Given the description of an element on the screen output the (x, y) to click on. 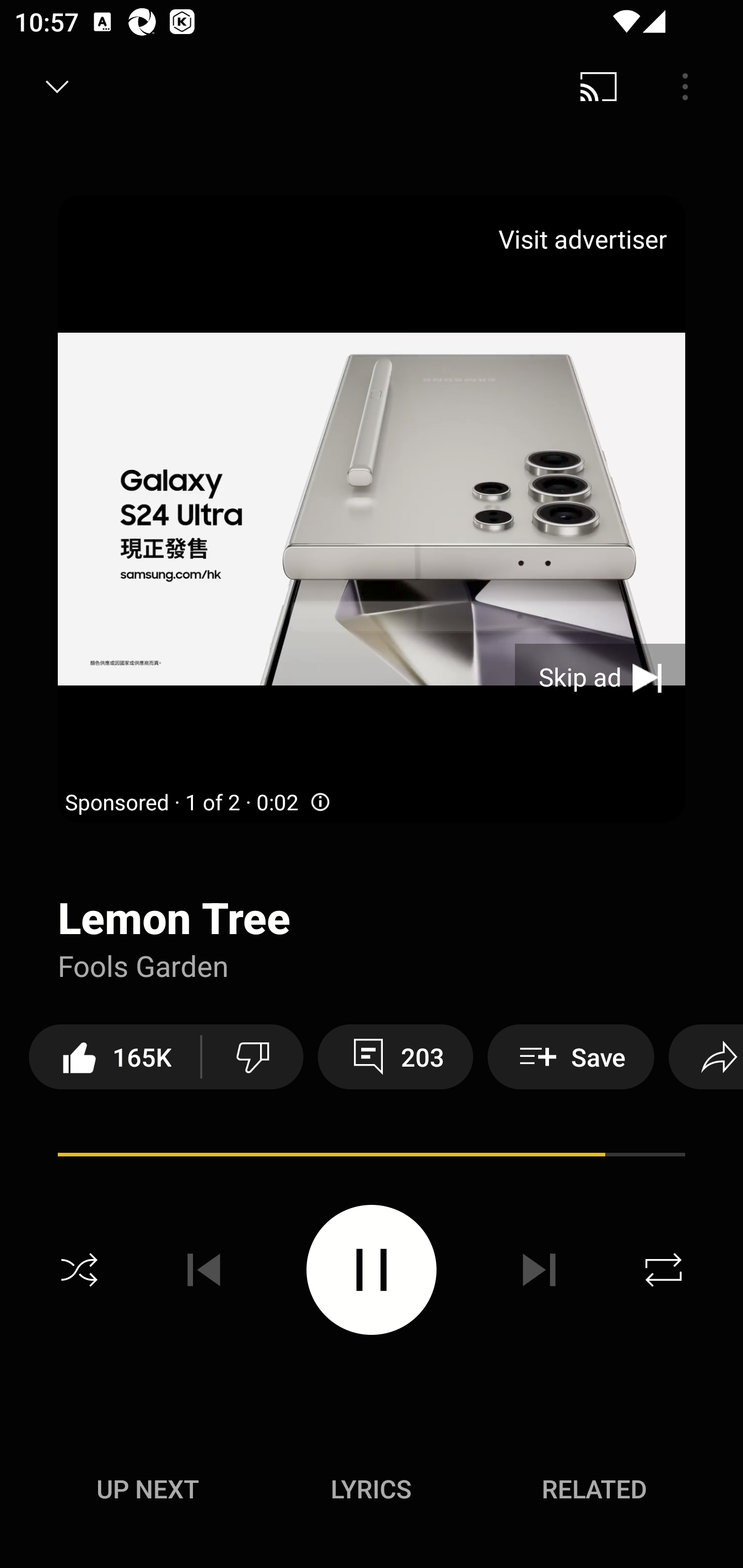
Minimize (57, 86)
Cast. Disconnected (598, 86)
Menu (684, 86)
Visit advertiser (586, 239)
Skip ad (599, 678)
Sponsored · 1 of 2 · 0:03 (198, 802)
Dislike (252, 1056)
203 View 203 comments (395, 1056)
Save Save to playlist (570, 1056)
Share (705, 1056)
Pause video (371, 1269)
Shuffle off (79, 1269)
Previous track disabled (203, 1269)
Next track disabled (538, 1269)
Repeat off (663, 1269)
Up next UP NEXT Lyrics LYRICS Related RELATED (371, 1491)
Lyrics LYRICS (370, 1488)
Related RELATED (594, 1488)
